Given the description of an element on the screen output the (x, y) to click on. 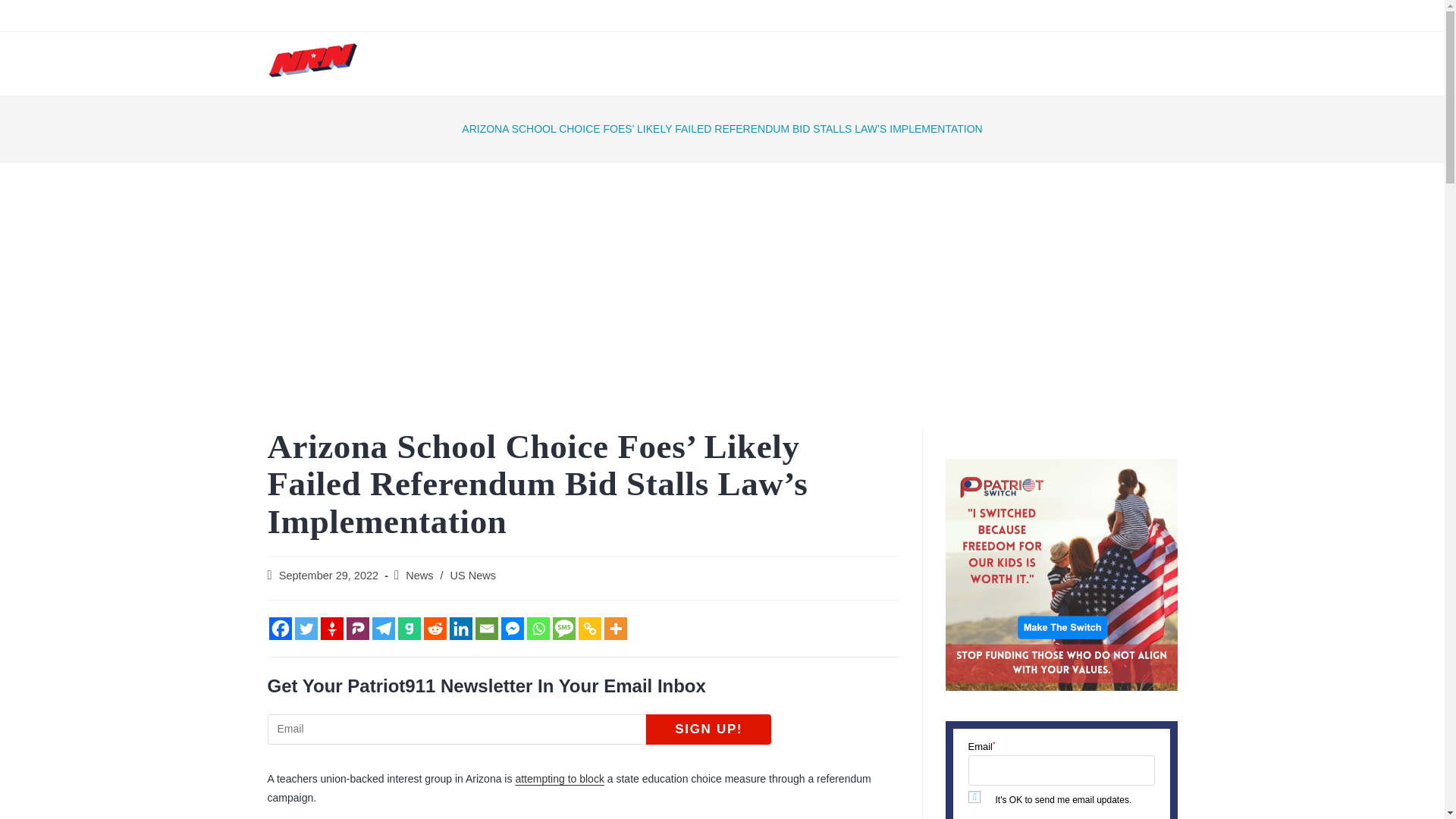
NEWS (566, 63)
COLUMNISTS (740, 63)
TRENDING: (518, 15)
SMS (563, 628)
BIDENFLATION (771, 15)
CHINA (941, 15)
Telegram (382, 628)
Reddit (434, 628)
1 (973, 797)
WRITE FOR US (1011, 63)
